Given the description of an element on the screen output the (x, y) to click on. 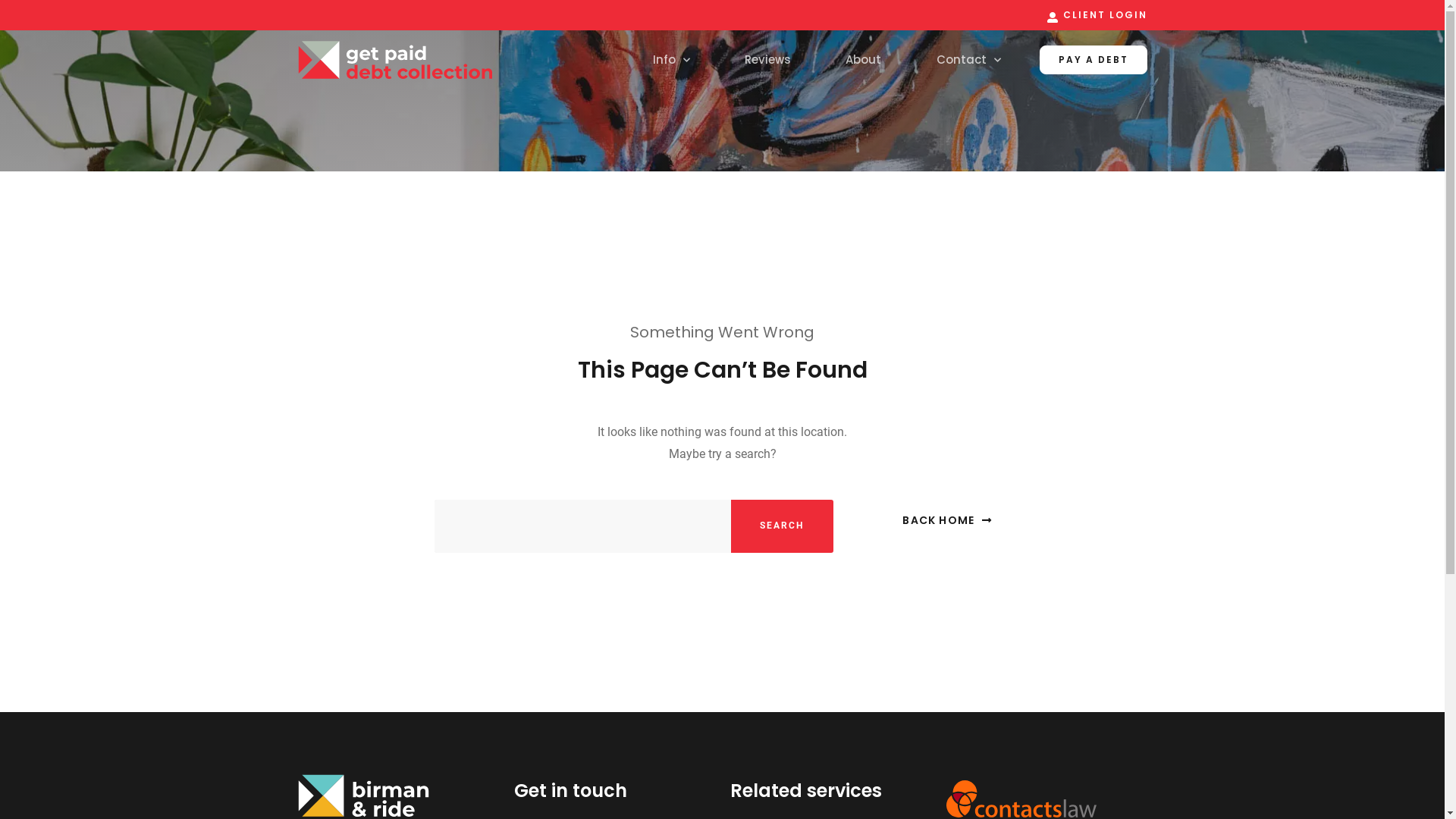
BACK HOME Element type: text (947, 520)
Reviews Element type: text (767, 59)
Contact Element type: text (967, 59)
SEARCH Element type: text (782, 526)
About Element type: text (863, 59)
Info Element type: text (671, 59)
PAY A DEBT Element type: text (1092, 59)
CLIENT LOGIN Element type: text (1096, 14)
